Given the description of an element on the screen output the (x, y) to click on. 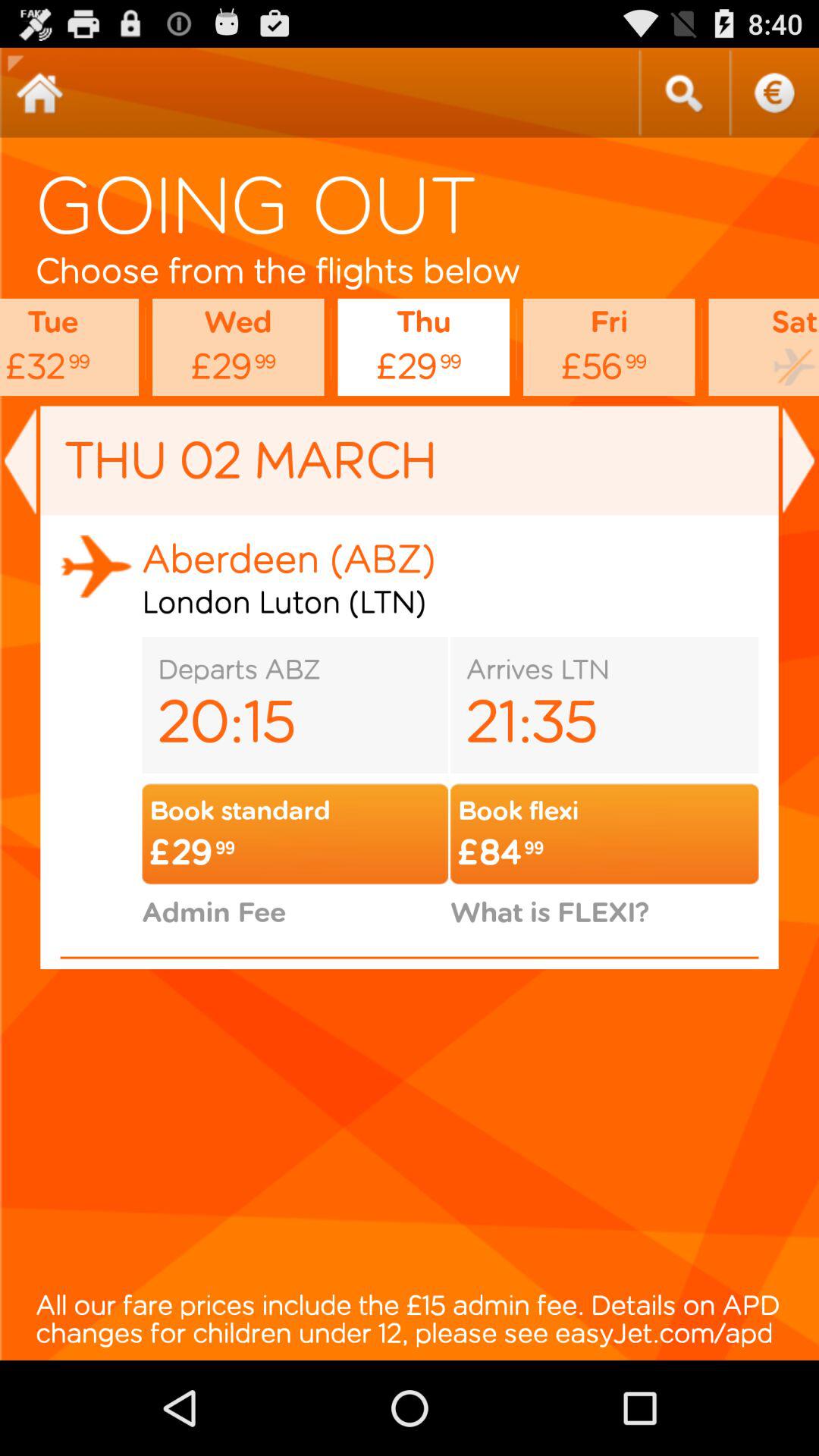
click on book standard (294, 833)
